Given the description of an element on the screen output the (x, y) to click on. 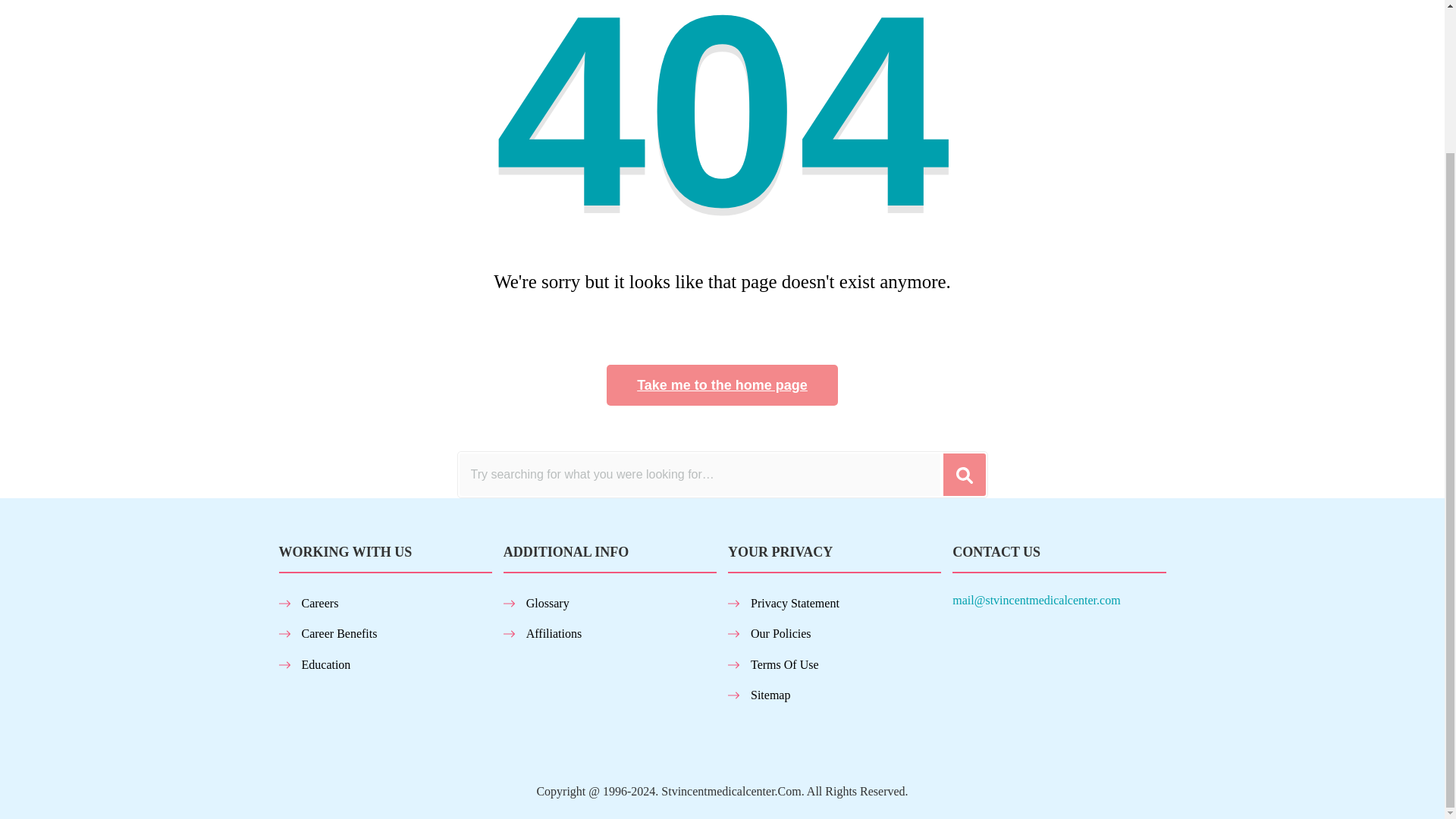
Career Benefits (339, 633)
Terms Of Use (784, 664)
Privacy Statement (795, 603)
Search (964, 474)
Take me to the home page (722, 384)
Search (964, 474)
Education (325, 664)
Affiliations (552, 633)
Our Policies (780, 633)
Careers (320, 603)
